Given the description of an element on the screen output the (x, y) to click on. 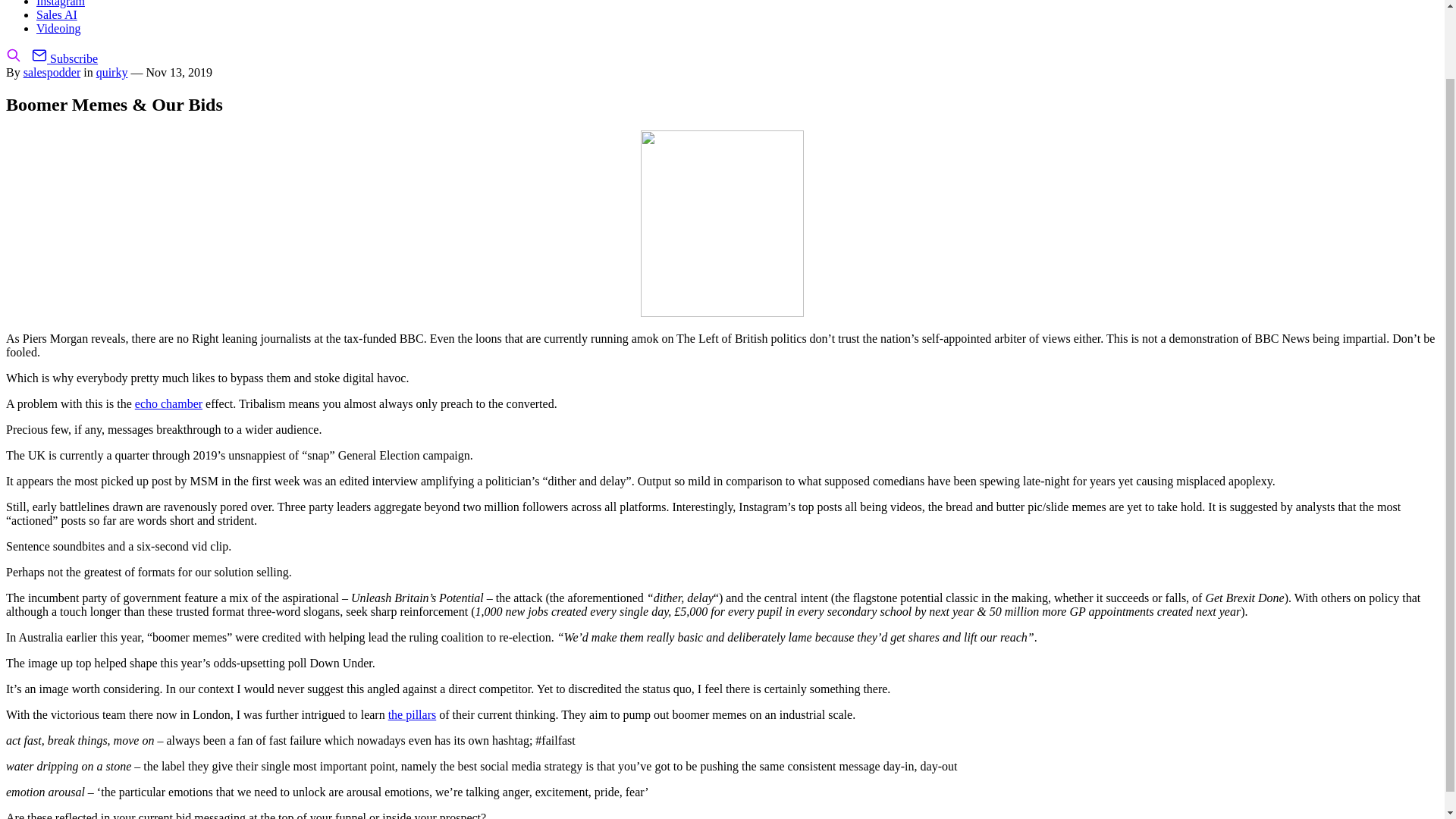
quirky (112, 72)
the pillars (412, 714)
Instagram (60, 3)
echo chamber (168, 403)
Sales AI (56, 14)
Subscribe (64, 58)
Videoing (58, 28)
salespodder (52, 72)
